Given the description of an element on the screen output the (x, y) to click on. 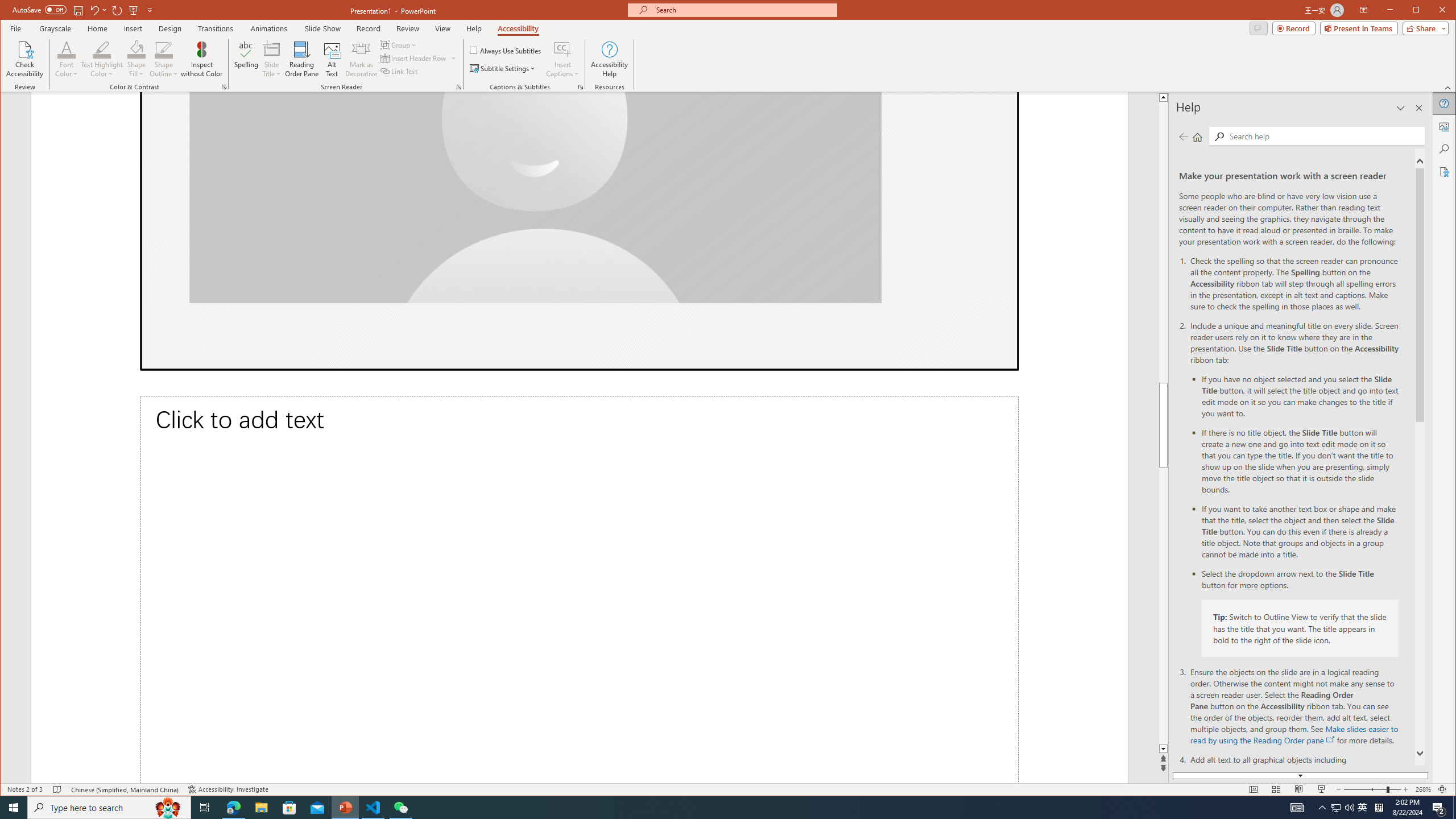
Previous page (1183, 136)
Insert Header Row (418, 57)
